Given the description of an element on the screen output the (x, y) to click on. 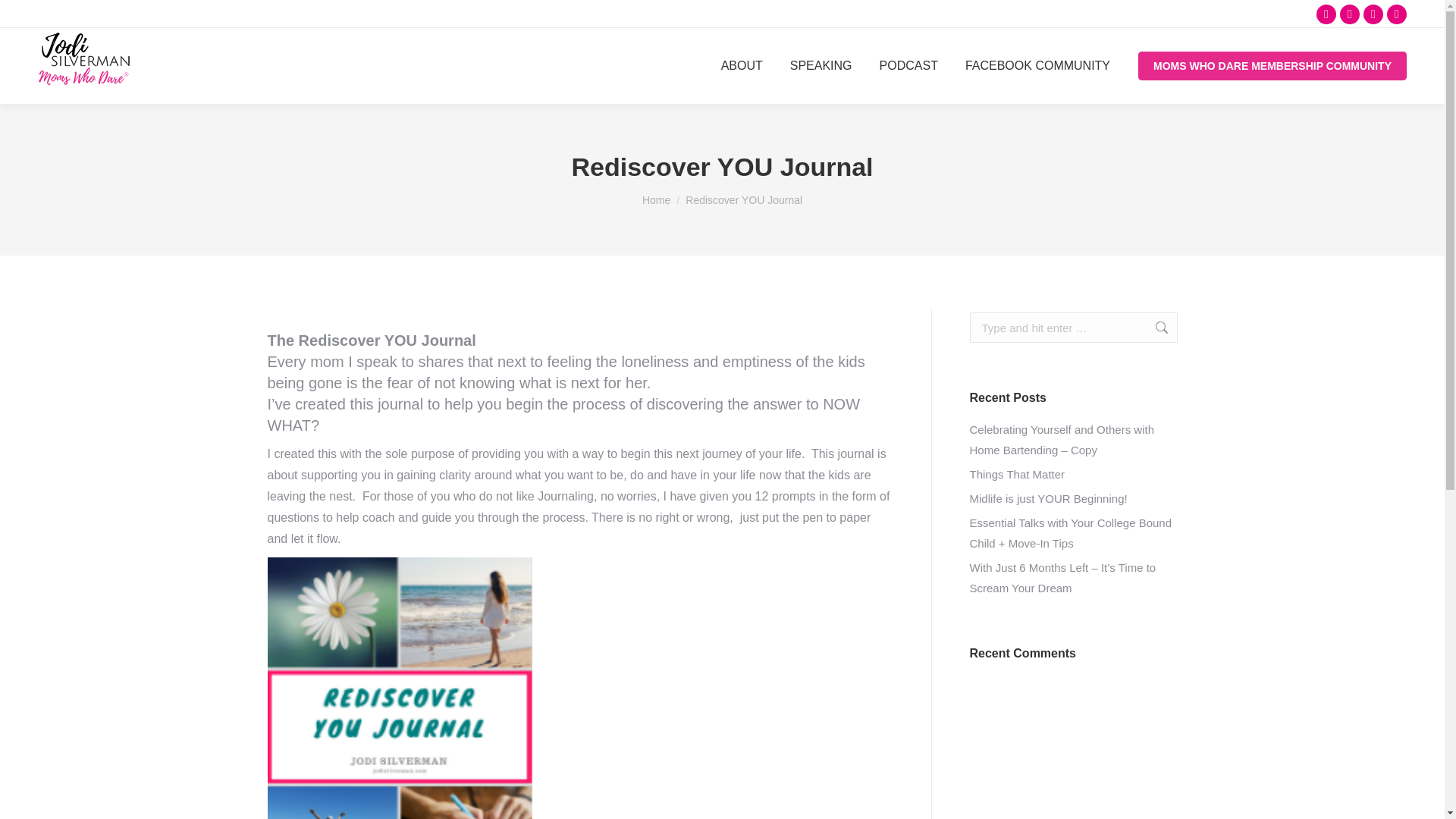
MOMS WHO DARE MEMBERSHIP COMMUNITY (1272, 65)
Midlife is just YOUR Beginning! (1047, 498)
Home (655, 200)
Things That Matter (1016, 474)
FACEBOOK COMMUNITY (1037, 65)
Go! (1153, 327)
YouTube page opens in new window (1372, 14)
Go! (1153, 327)
Home (655, 200)
Go! (1153, 327)
SPEAKING (821, 65)
Instagram page opens in new window (1349, 14)
Facebook page opens in new window (1326, 14)
PODCAST (908, 65)
ABOUT (741, 65)
